Given the description of an element on the screen output the (x, y) to click on. 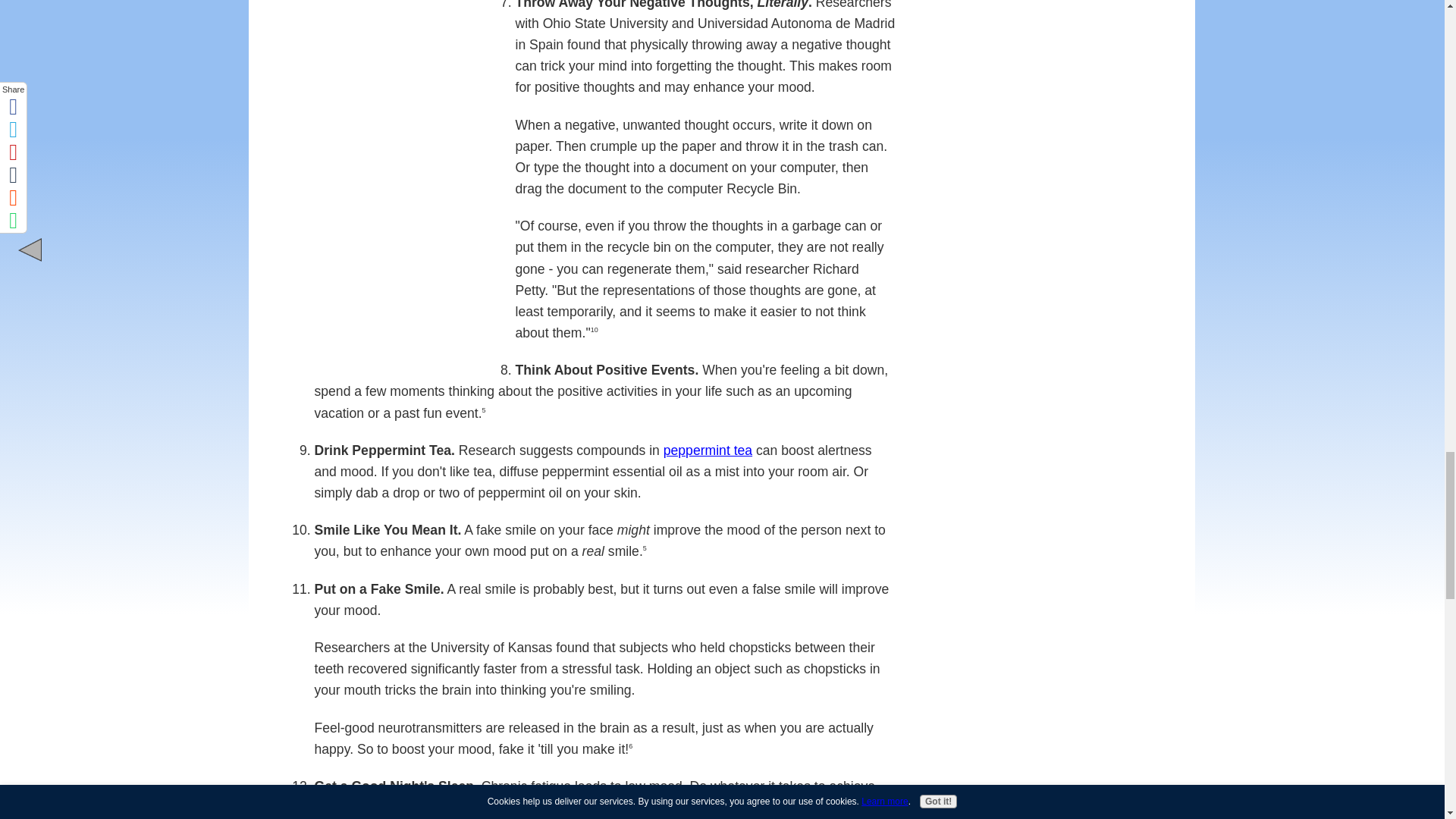
Pin It (409, 360)
